Given the description of an element on the screen output the (x, y) to click on. 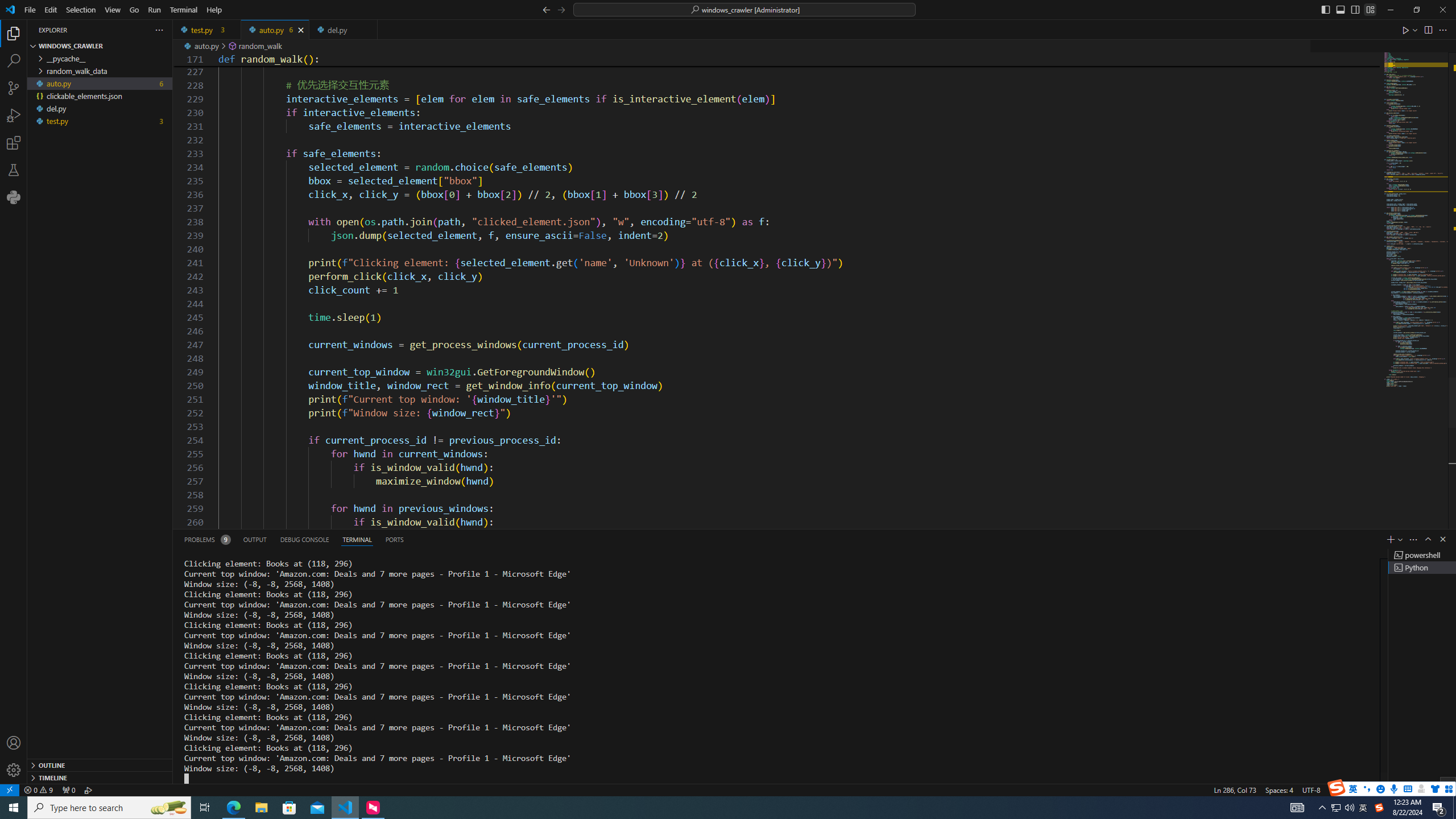
Run Python File (1405, 29)
Terminal (183, 9)
CRLF (1336, 789)
Customize Layout... (1369, 9)
Launch Profile... (1400, 539)
Restore (1416, 9)
More Actions... (1442, 29)
Hide Panel (1442, 539)
Terminal 5 Python (1422, 567)
Debug:  (88, 789)
UTF-8 (1310, 789)
